Given the description of an element on the screen output the (x, y) to click on. 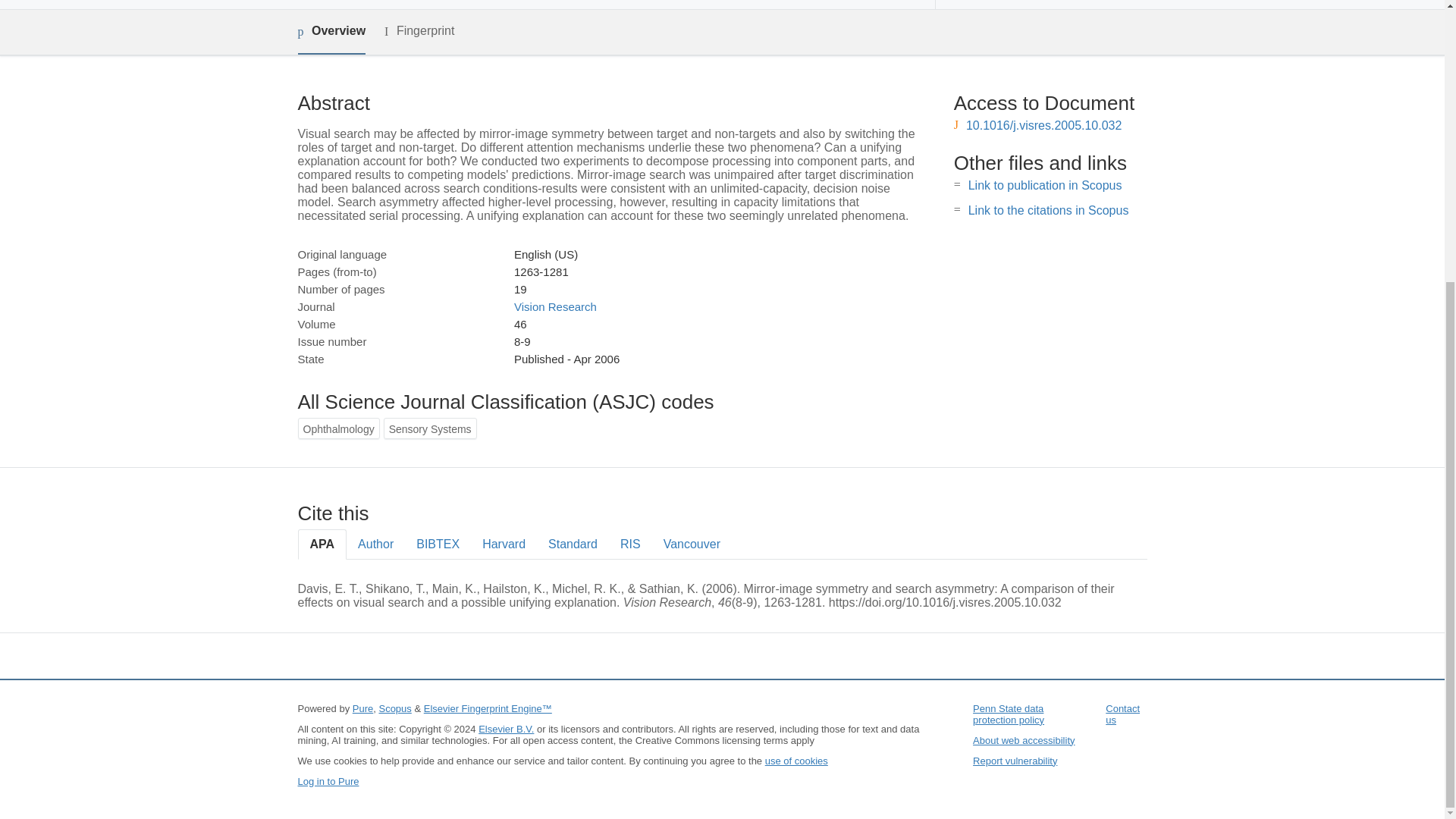
Overview (331, 31)
About web accessibility (1023, 740)
Contact us (1122, 713)
Report vulnerability (1014, 760)
Pure (362, 708)
Log in to Pure (327, 781)
use of cookies (796, 760)
Elsevier B.V. (506, 728)
Link to the citations in Scopus (1048, 210)
Vision Research (554, 306)
Fingerprint (419, 31)
Penn State data protection policy (1007, 713)
Link to publication in Scopus (1045, 185)
Scopus (394, 708)
